Given the description of an element on the screen output the (x, y) to click on. 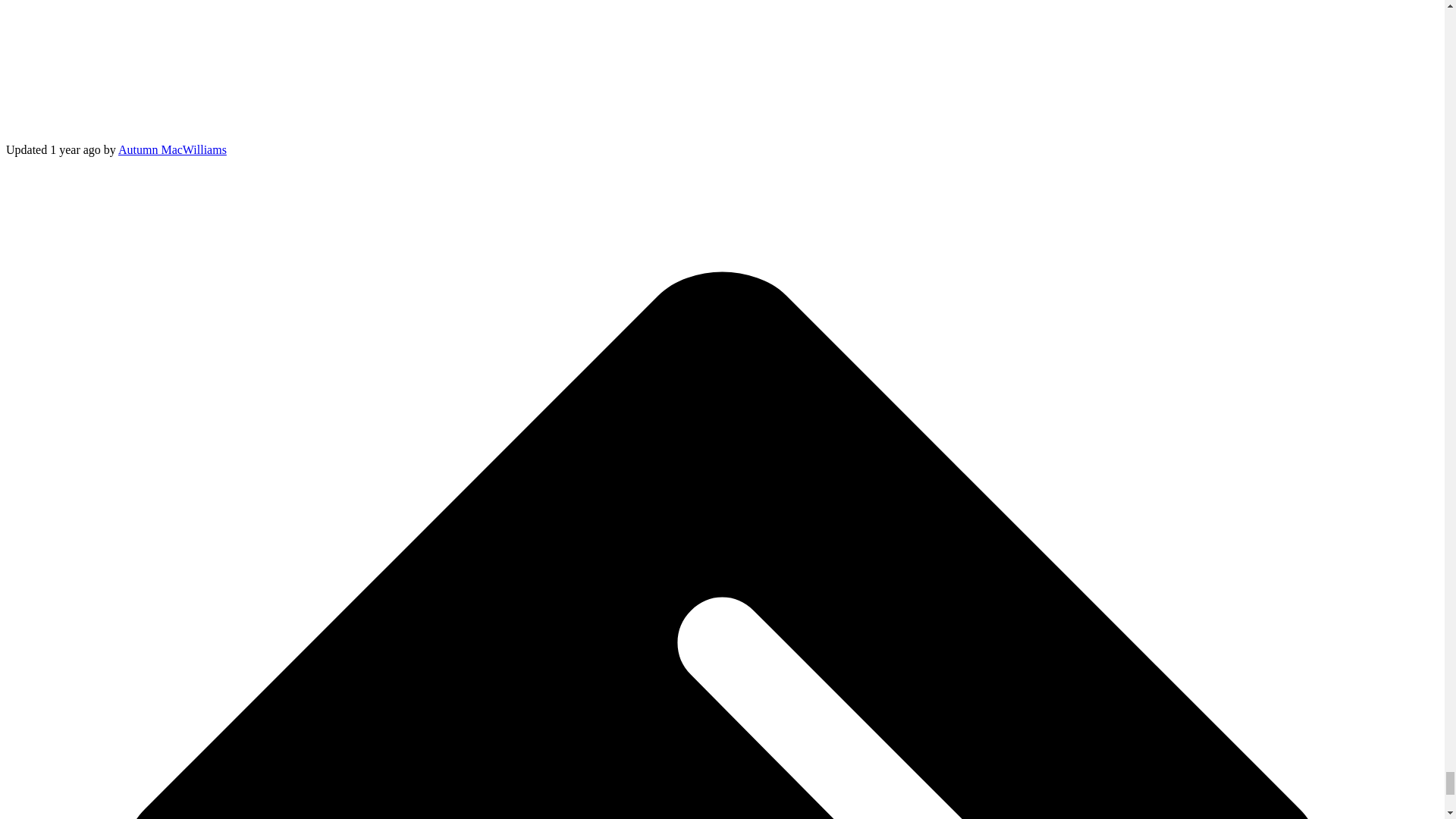
Tue, Jul 18, 2023 7:36 PM (74, 149)
